Given the description of an element on the screen output the (x, y) to click on. 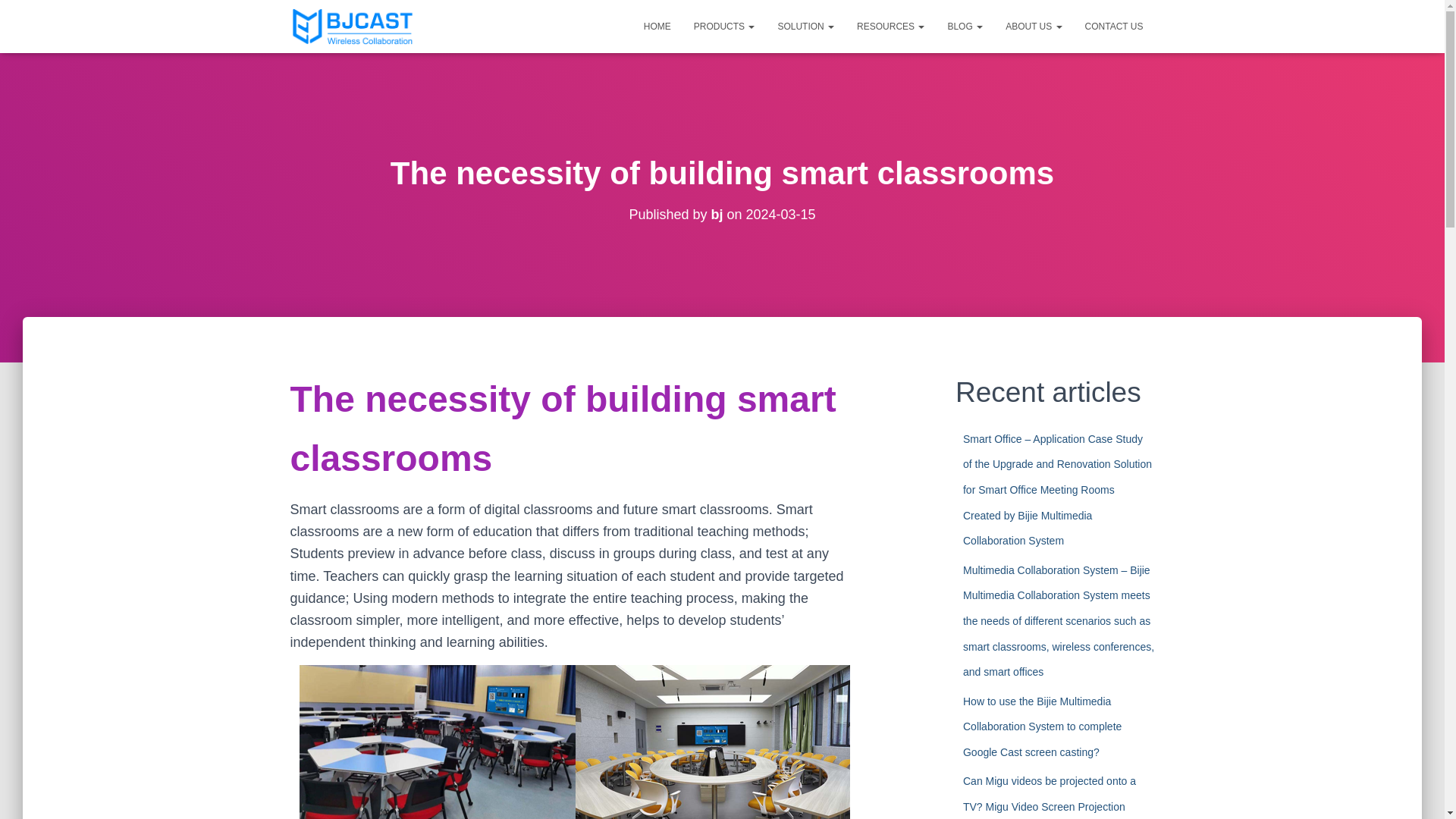
PRODUCTS (724, 26)
HOME (656, 26)
PRODUCTS (724, 26)
CONTACT US (1114, 26)
Solution (805, 26)
SOLUTION (805, 26)
HOME (656, 26)
The necessity of building smart classrooms (562, 428)
BJCAST (352, 26)
BLOG (965, 26)
